Given the description of an element on the screen output the (x, y) to click on. 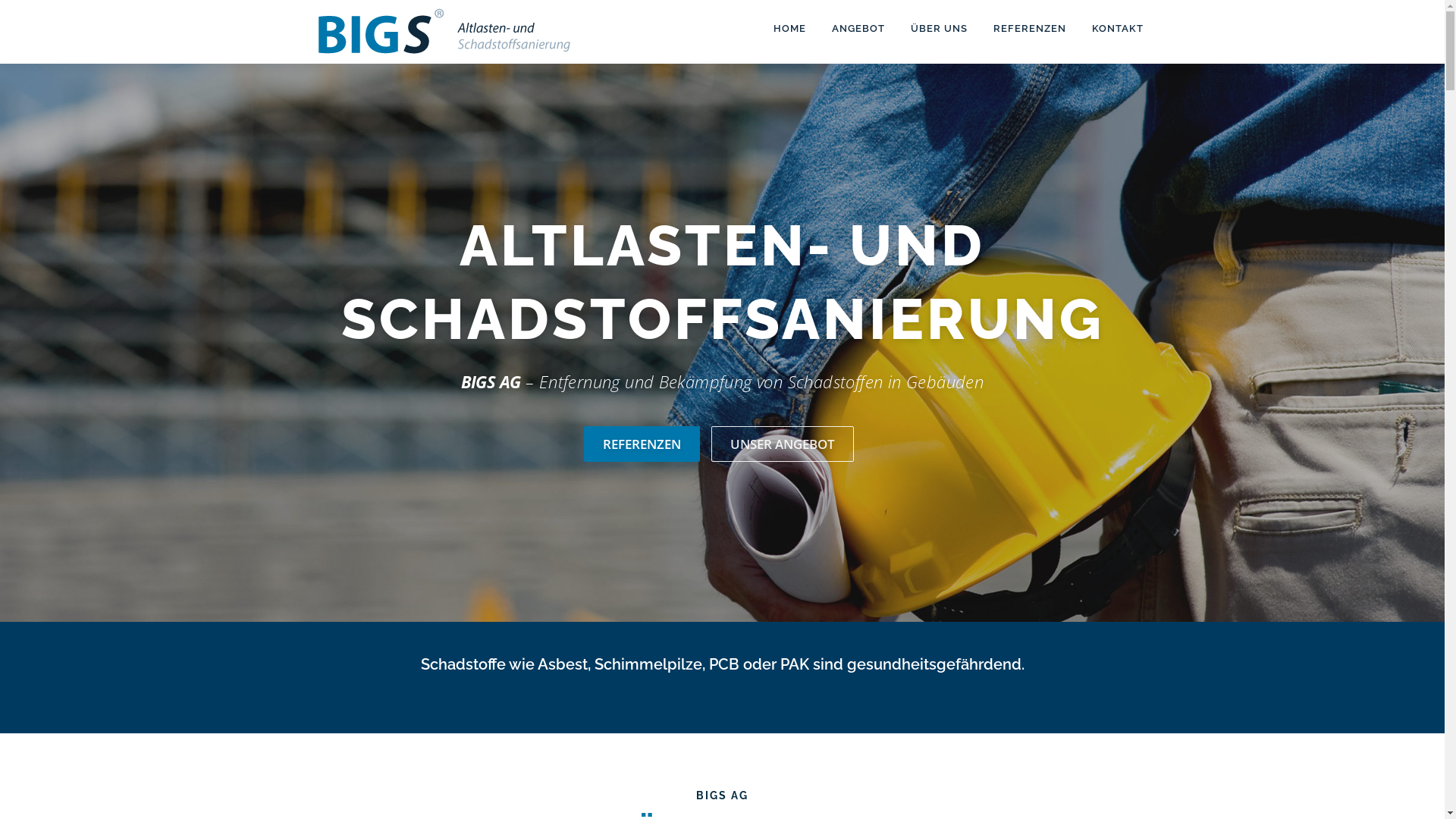
HOME Element type: text (788, 28)
UNSER ANGEBOT Element type: text (782, 443)
ANGEBOT Element type: text (858, 28)
KONTAKT Element type: text (1110, 28)
REFERENZEN Element type: text (1028, 28)
REFERENZEN Element type: text (641, 443)
